Given the description of an element on the screen output the (x, y) to click on. 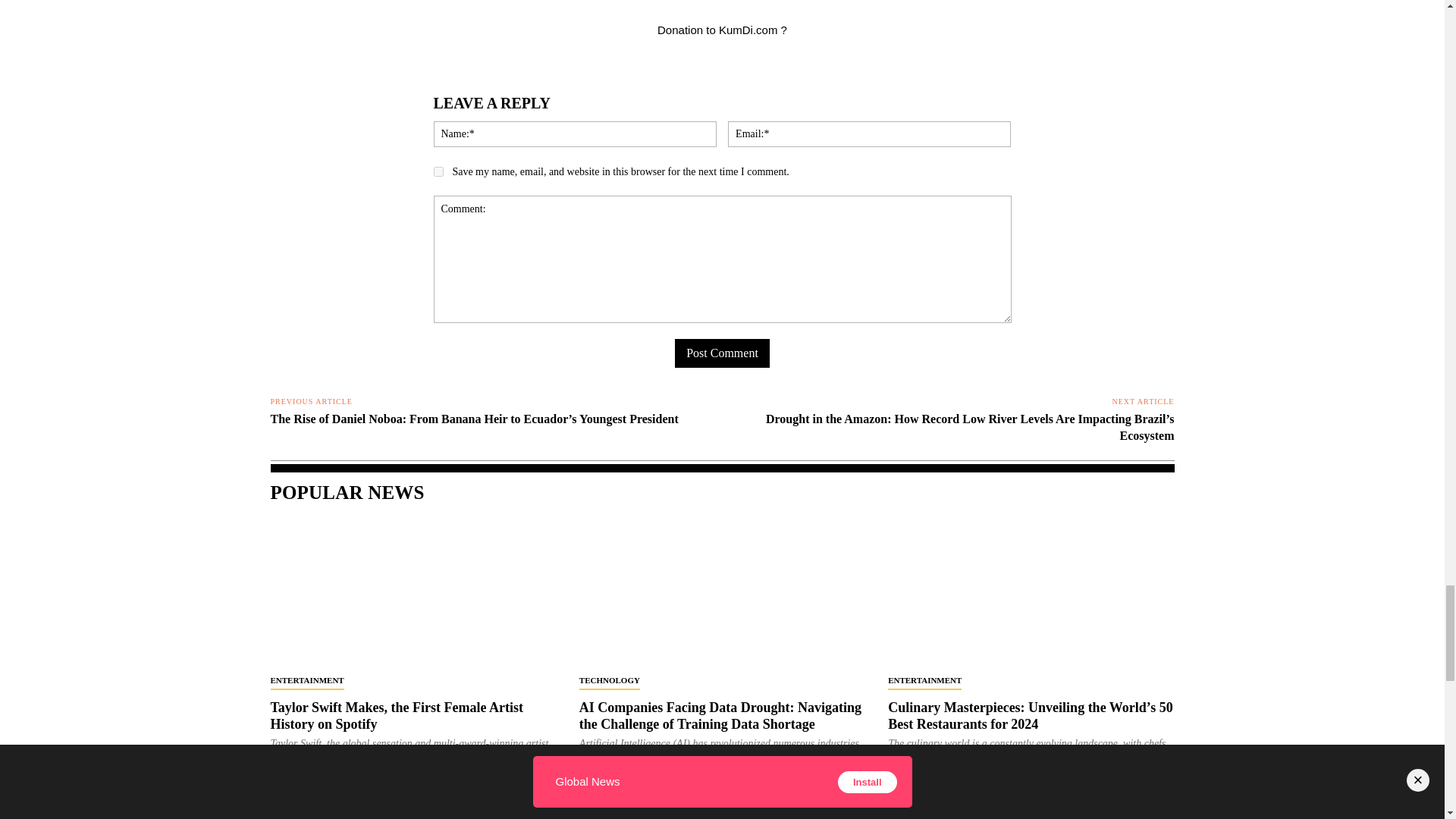
yes (438, 171)
Post Comment (722, 353)
